Given the description of an element on the screen output the (x, y) to click on. 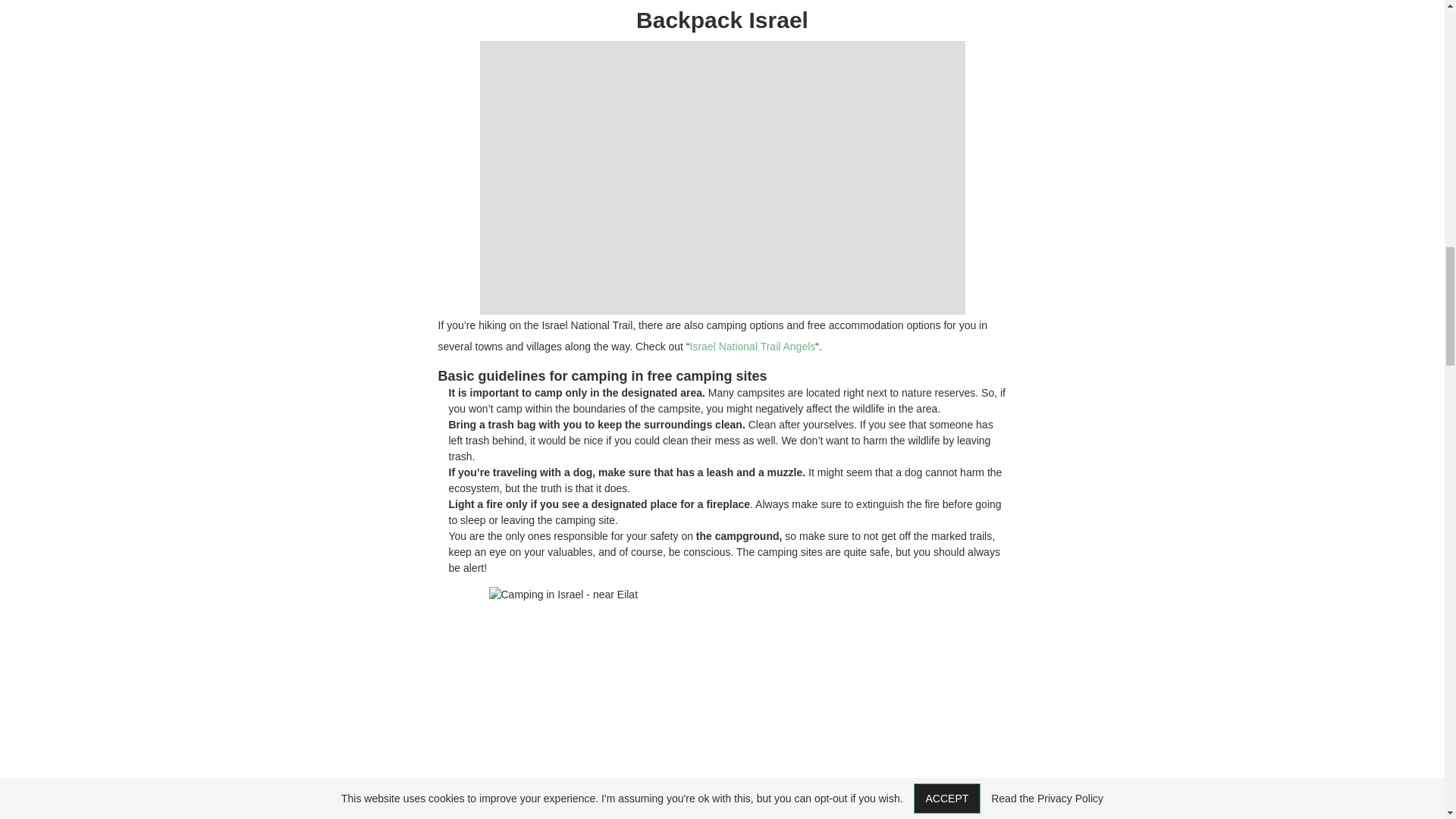
Israel National Trail Angels (752, 346)
